Given the description of an element on the screen output the (x, y) to click on. 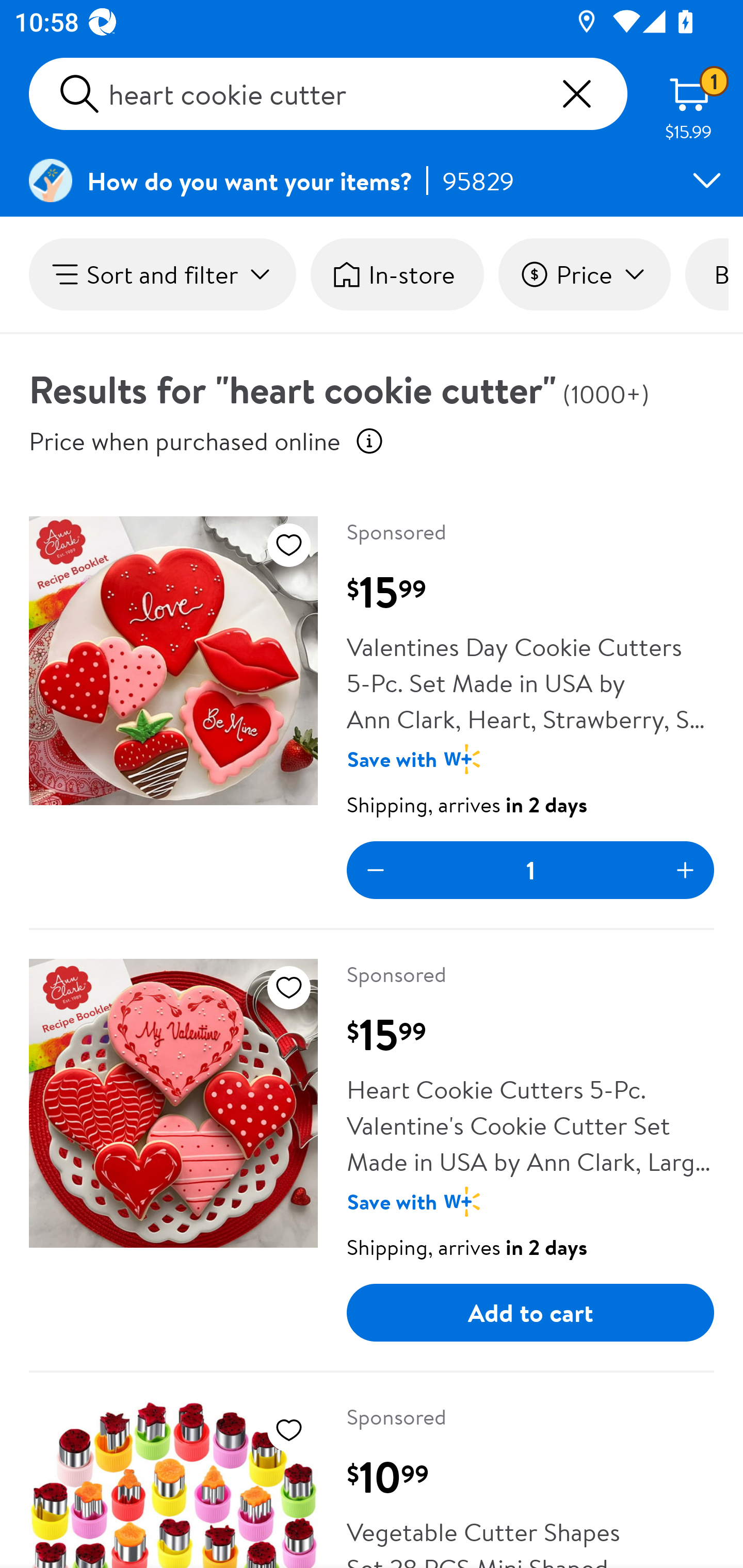
heart cookie cutter Clear Text (327, 94)
Clear Text (576, 94)
Price when purchased online (184, 440)
Price when purchased online (369, 440)
Add to cart (530, 1313)
